Given the description of an element on the screen output the (x, y) to click on. 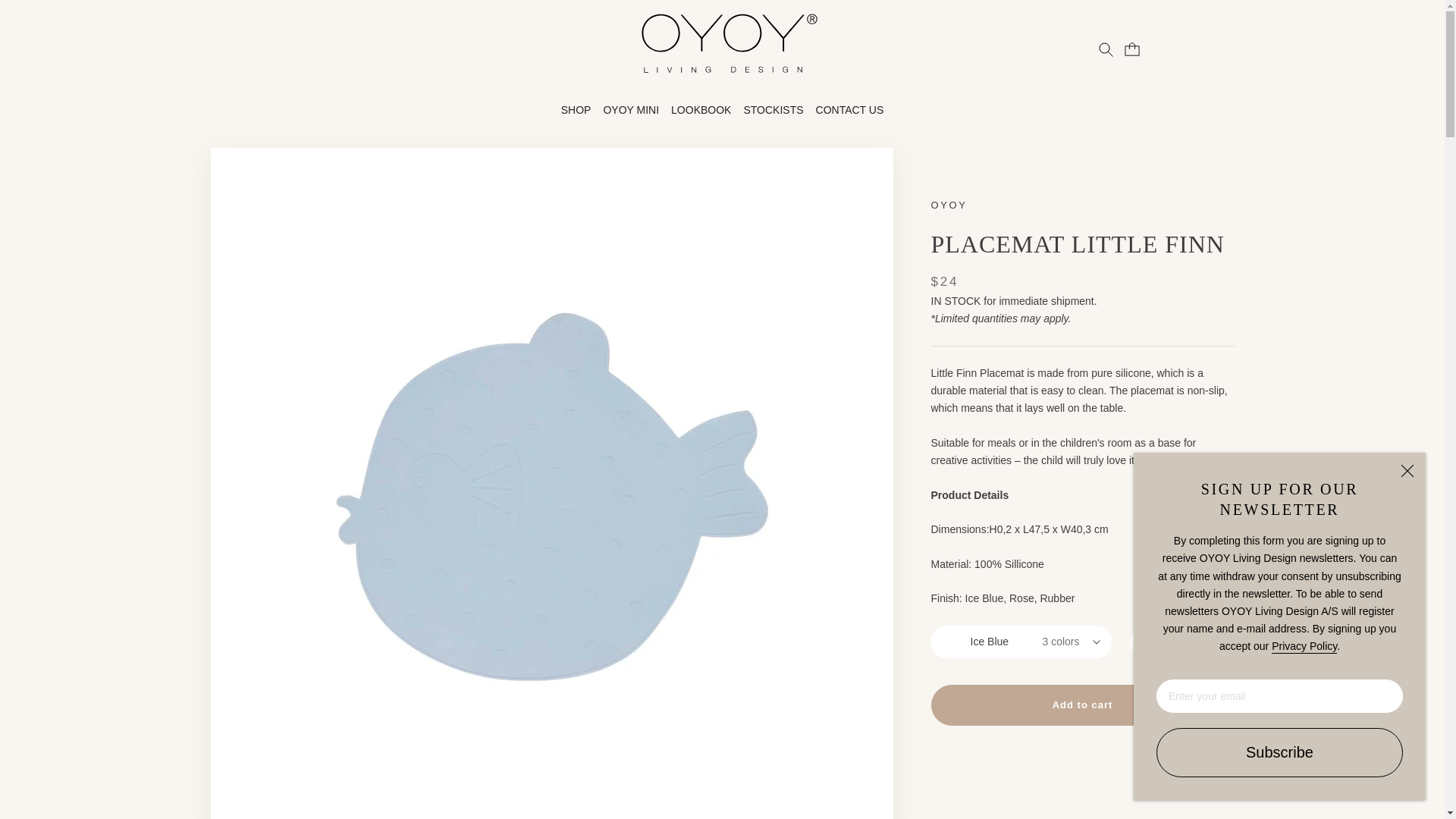
1 (1182, 642)
Subscribe (1279, 752)
Privacy Policy (1303, 645)
